Given the description of an element on the screen output the (x, y) to click on. 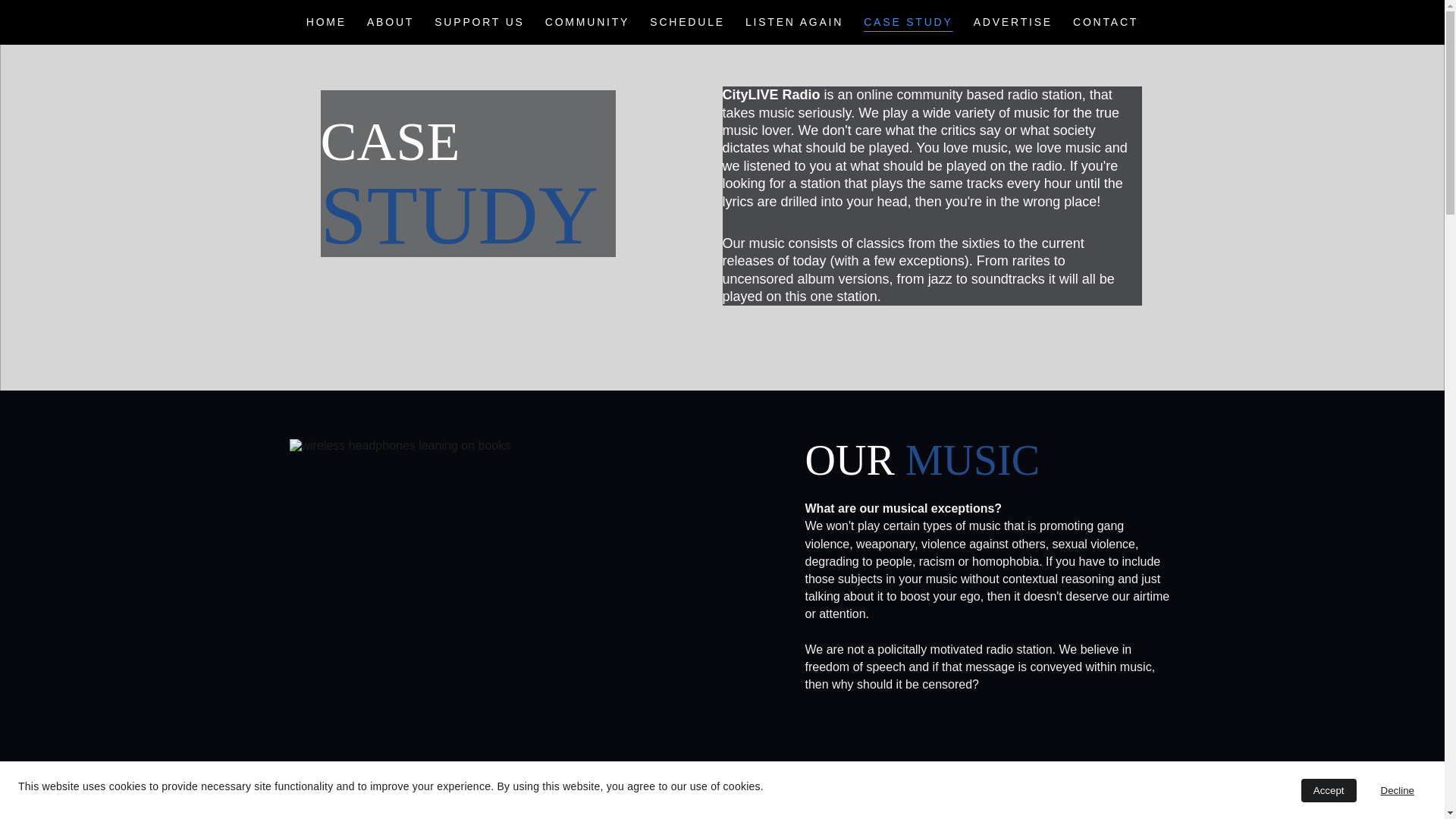
LISTEN AGAIN (794, 22)
wireless headphones leaning on books (516, 578)
SUPPORT US (478, 22)
ADVERTISE (1013, 22)
SCHEDULE (687, 22)
Decline (1397, 790)
CASE STUDY (907, 22)
Accept (1328, 790)
ABOUT (389, 22)
HOME (325, 22)
COMMUNITY (587, 22)
CONTACT (1105, 22)
